Given the description of an element on the screen output the (x, y) to click on. 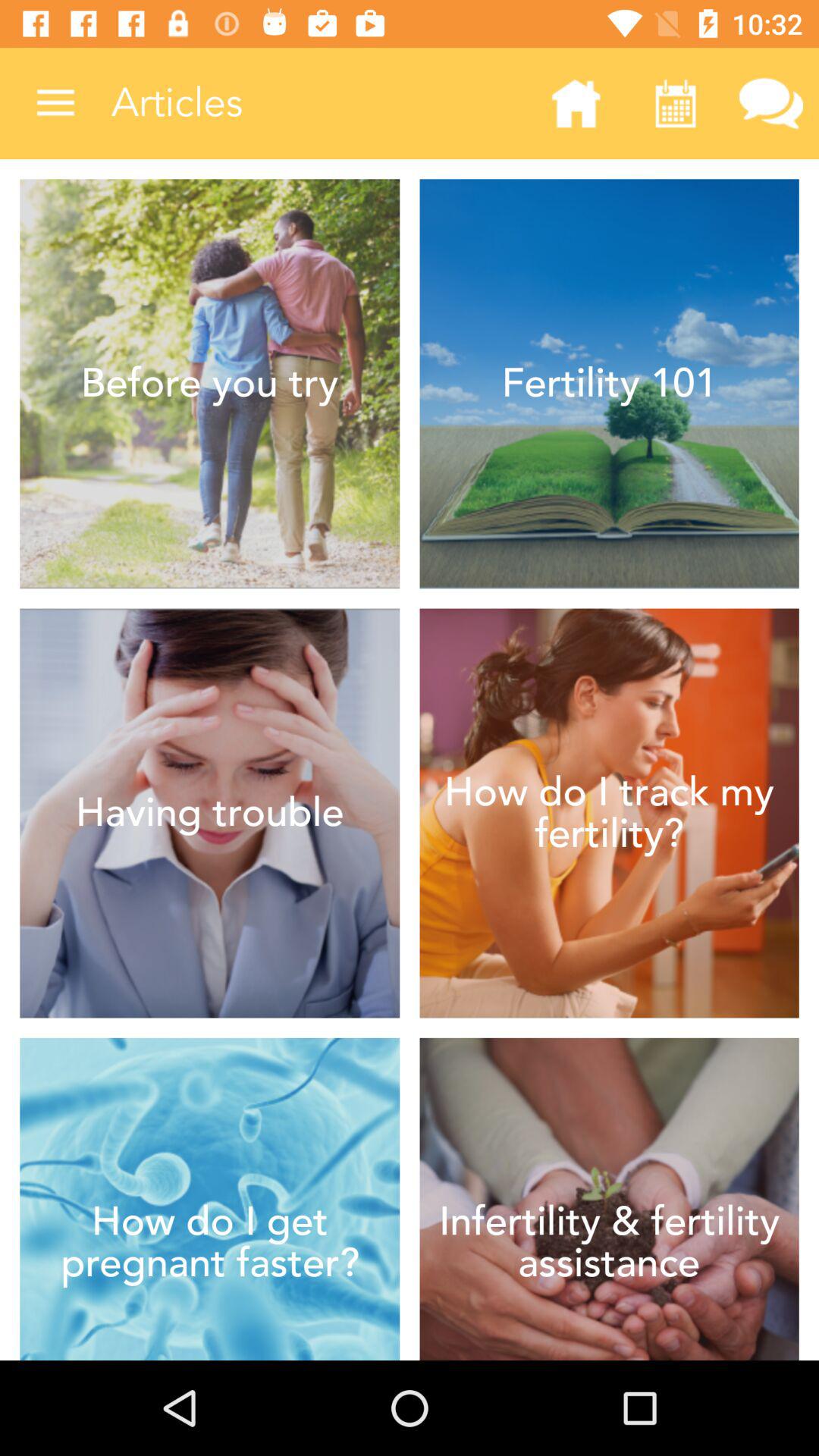
jump to the articles (317, 103)
